Given the description of an element on the screen output the (x, y) to click on. 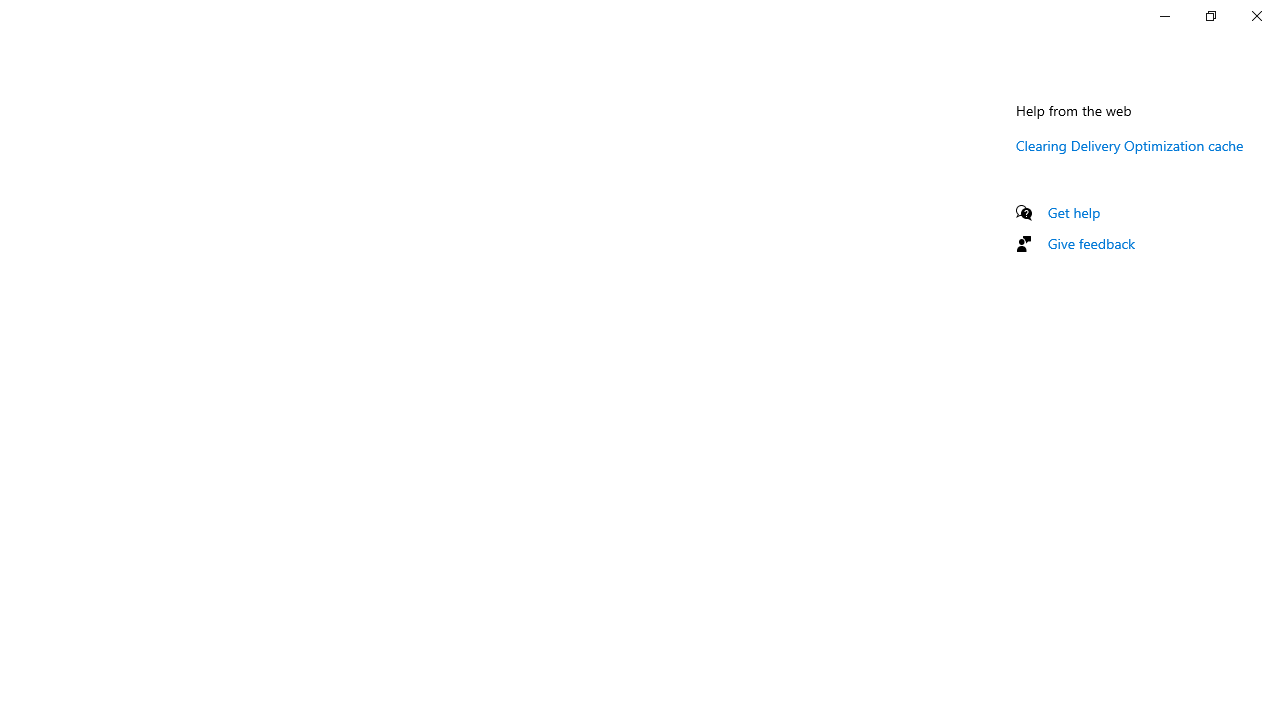
Clearing Delivery Optimization cache (1130, 145)
Restore Settings (1210, 15)
Get help (1074, 212)
Close Settings (1256, 15)
Minimize Settings (1164, 15)
Give feedback (1091, 243)
